Given the description of an element on the screen output the (x, y) to click on. 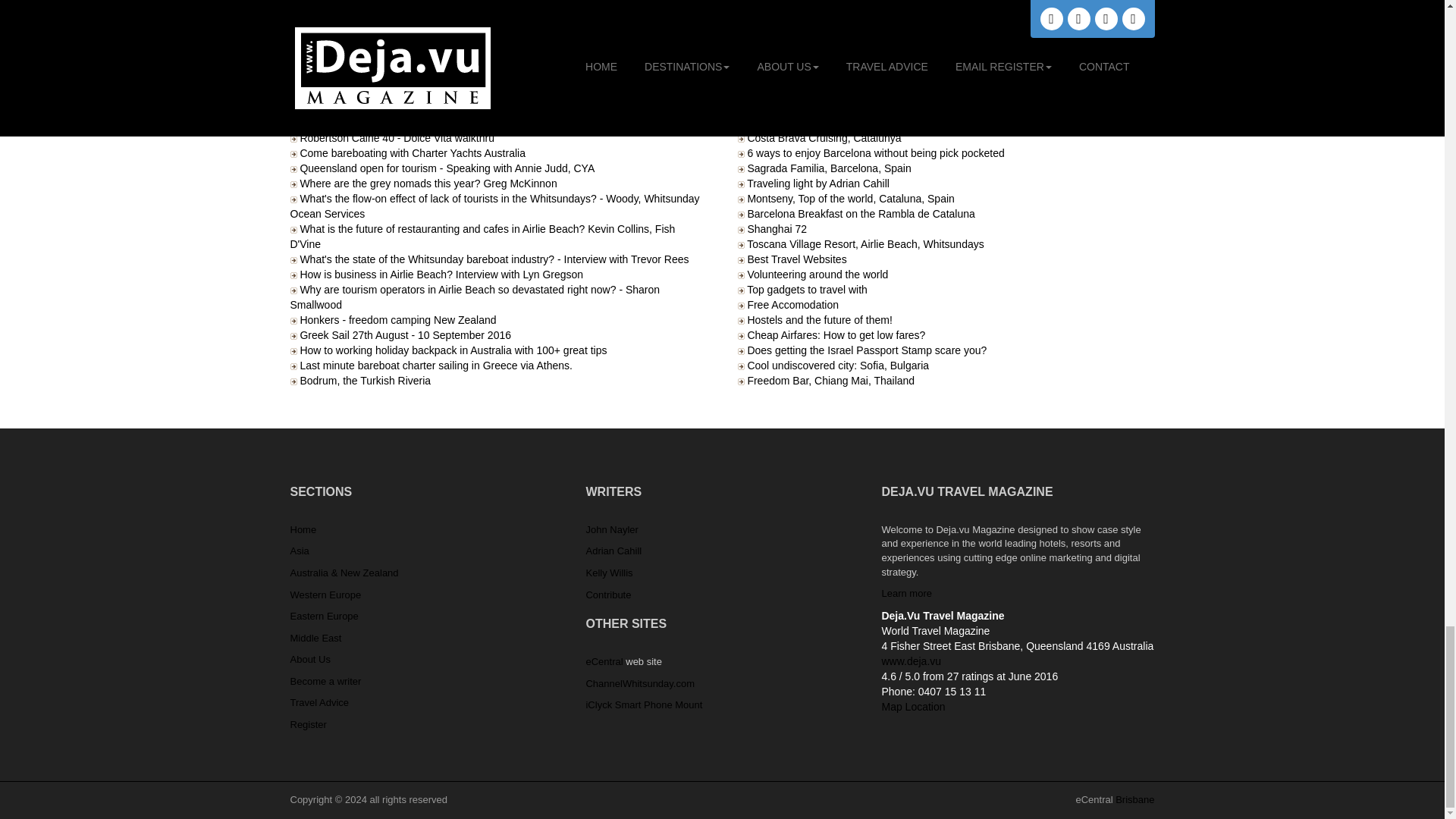
The Tesla Driving Experience in New Zealand (406, 46)
Tesla Road Kill - Will the Model 3 stop in time? (408, 16)
Tesla Model 3 leaving Invercargill, New Zealand (411, 31)
How was a Tesla 3 tour of New Zealand (392, 3)
